Given the description of an element on the screen output the (x, y) to click on. 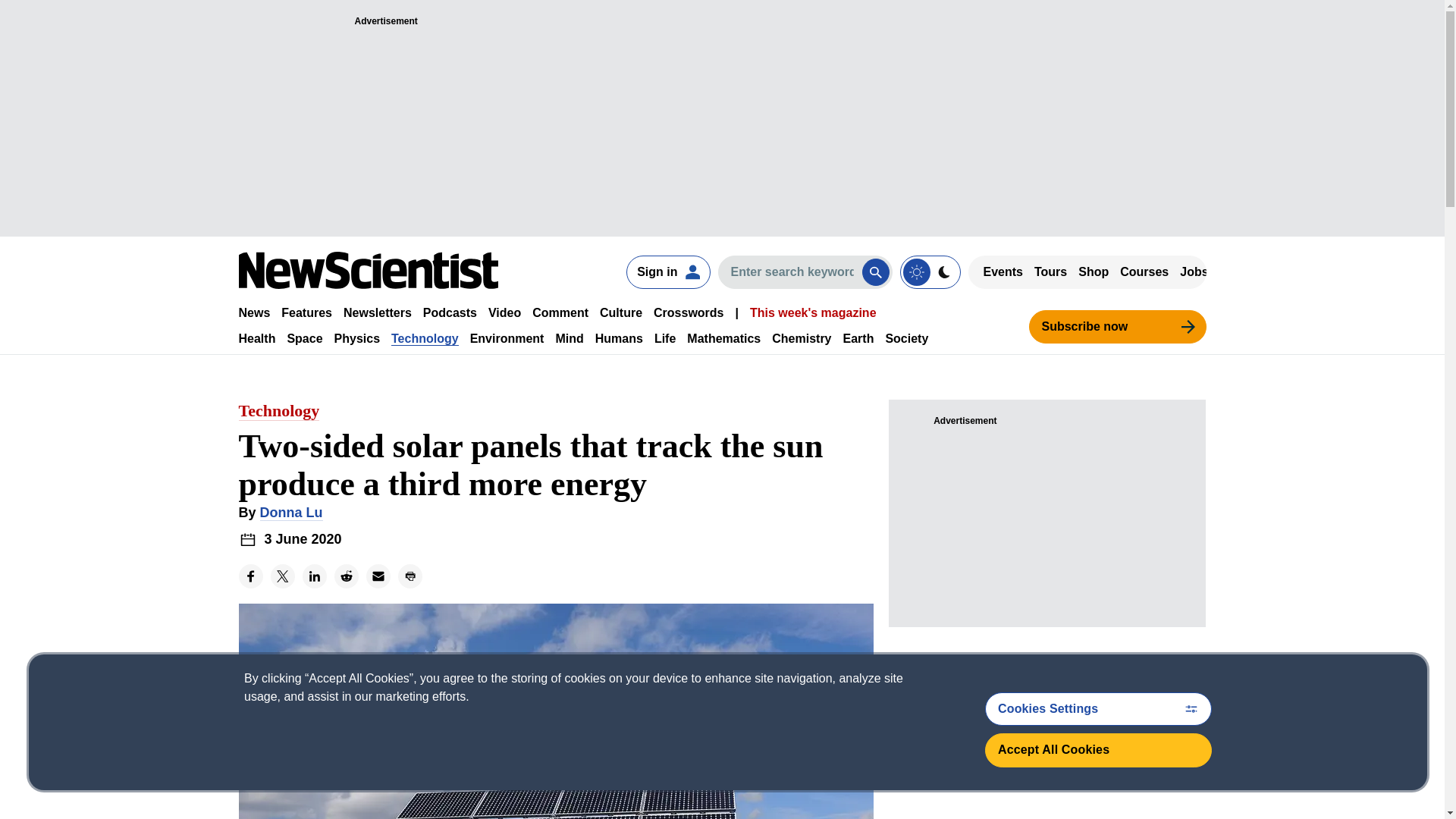
Chemistry (801, 338)
Events (1002, 272)
Shop (1093, 272)
Environment (507, 338)
Mind (568, 338)
Sign In page link (668, 272)
Health (256, 338)
Culture (620, 313)
Calendar icon (247, 538)
Podcasts (450, 313)
Society (906, 338)
Courses (1144, 272)
Crosswords (688, 313)
Technology (424, 338)
Sign in (668, 272)
